Given the description of an element on the screen output the (x, y) to click on. 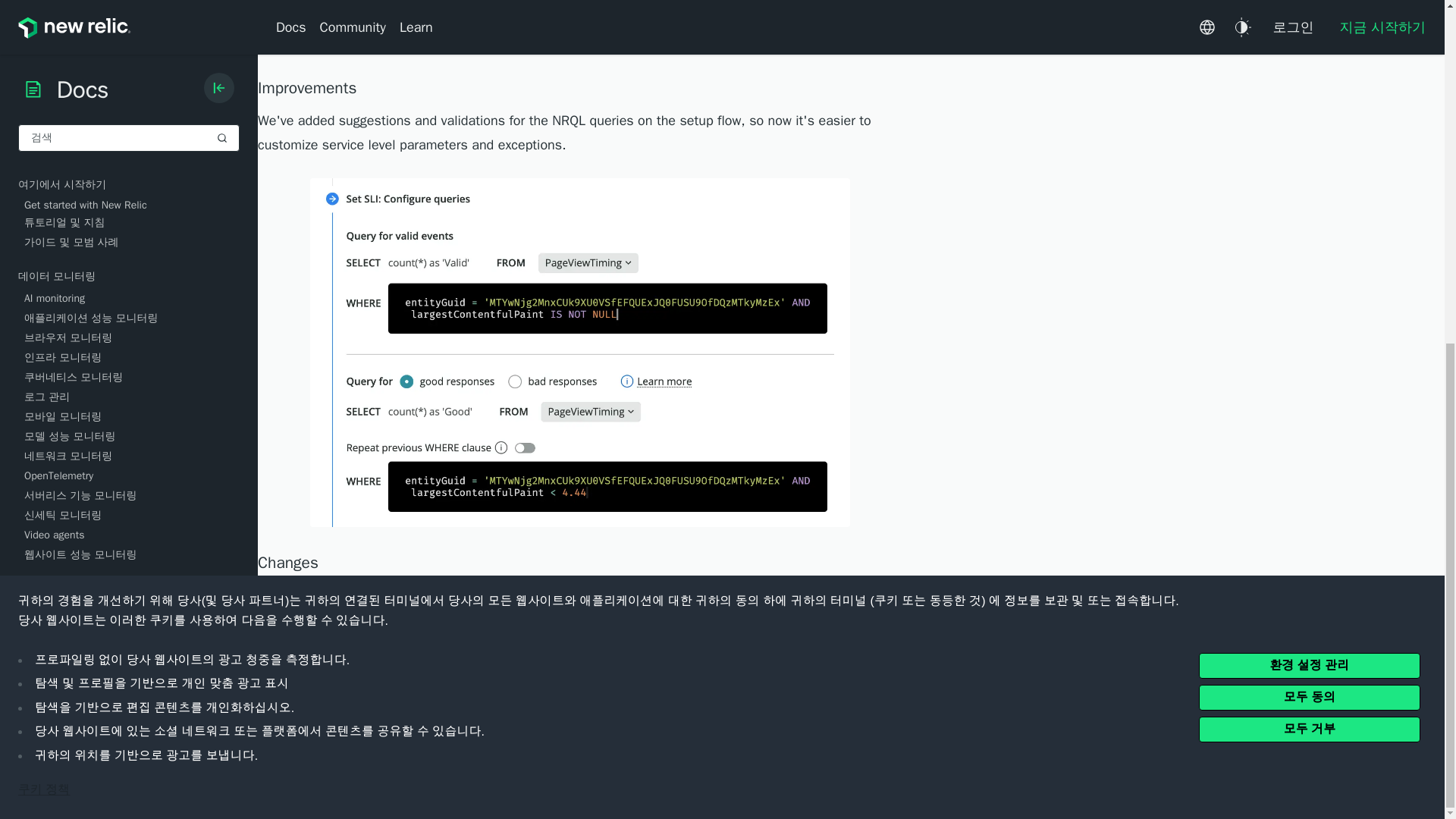
New suggested service levels (582, 26)
